Given the description of an element on the screen output the (x, y) to click on. 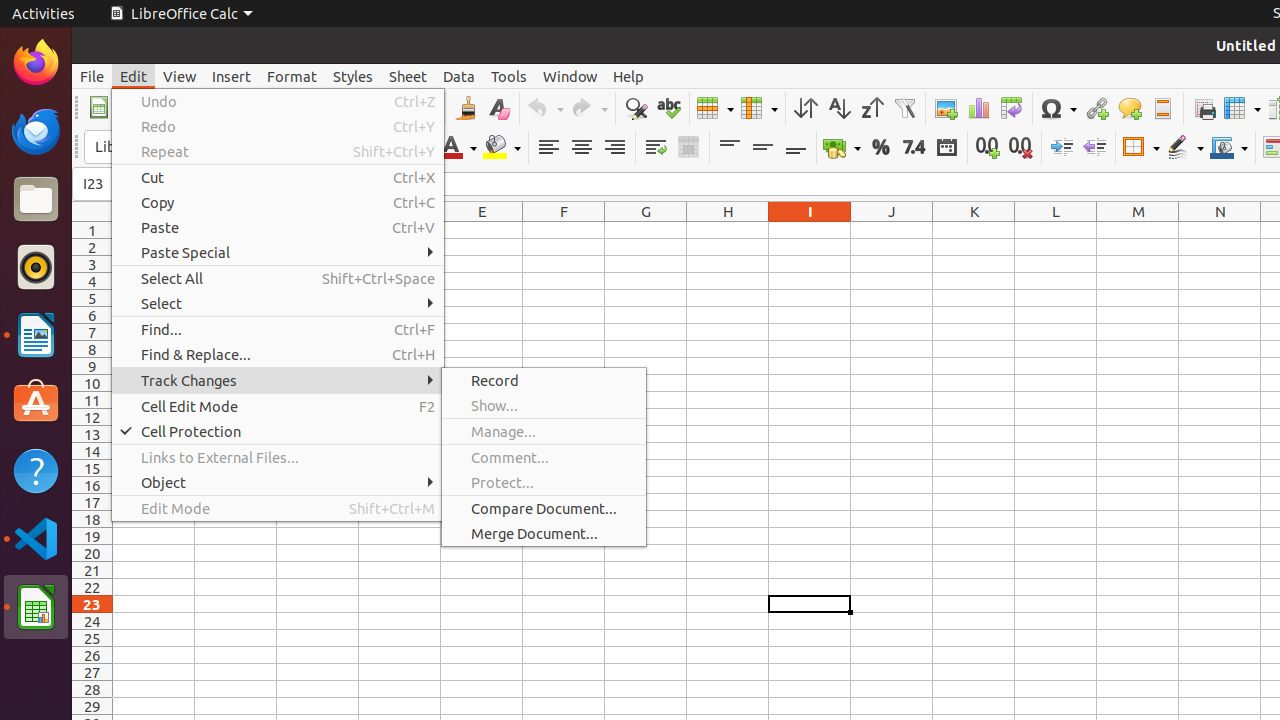
Column Element type: push-button (759, 108)
Window Element type: menu (570, 76)
Align Bottom Element type: push-button (795, 147)
Protect... Element type: menu-item (544, 482)
Undo Element type: menu-item (278, 101)
